Given the description of an element on the screen output the (x, y) to click on. 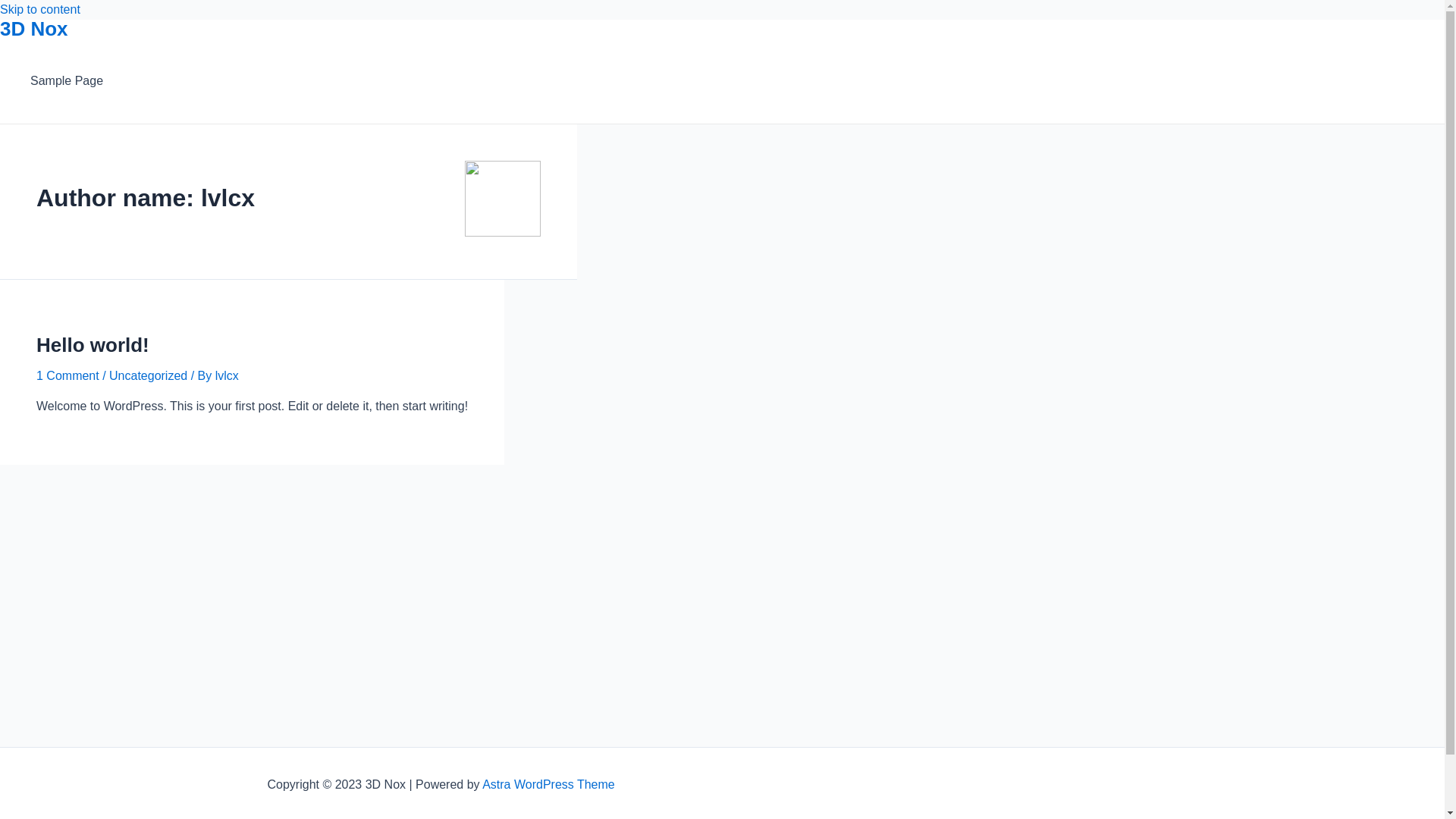
Astra WordPress Theme Element type: text (548, 784)
Uncategorized Element type: text (148, 375)
Hello world! Element type: text (92, 344)
lvlcx Element type: text (226, 375)
1 Comment Element type: text (67, 375)
Sample Page Element type: text (66, 80)
3D Nox Element type: text (34, 28)
Skip to content Element type: text (40, 9)
